Given the description of an element on the screen output the (x, y) to click on. 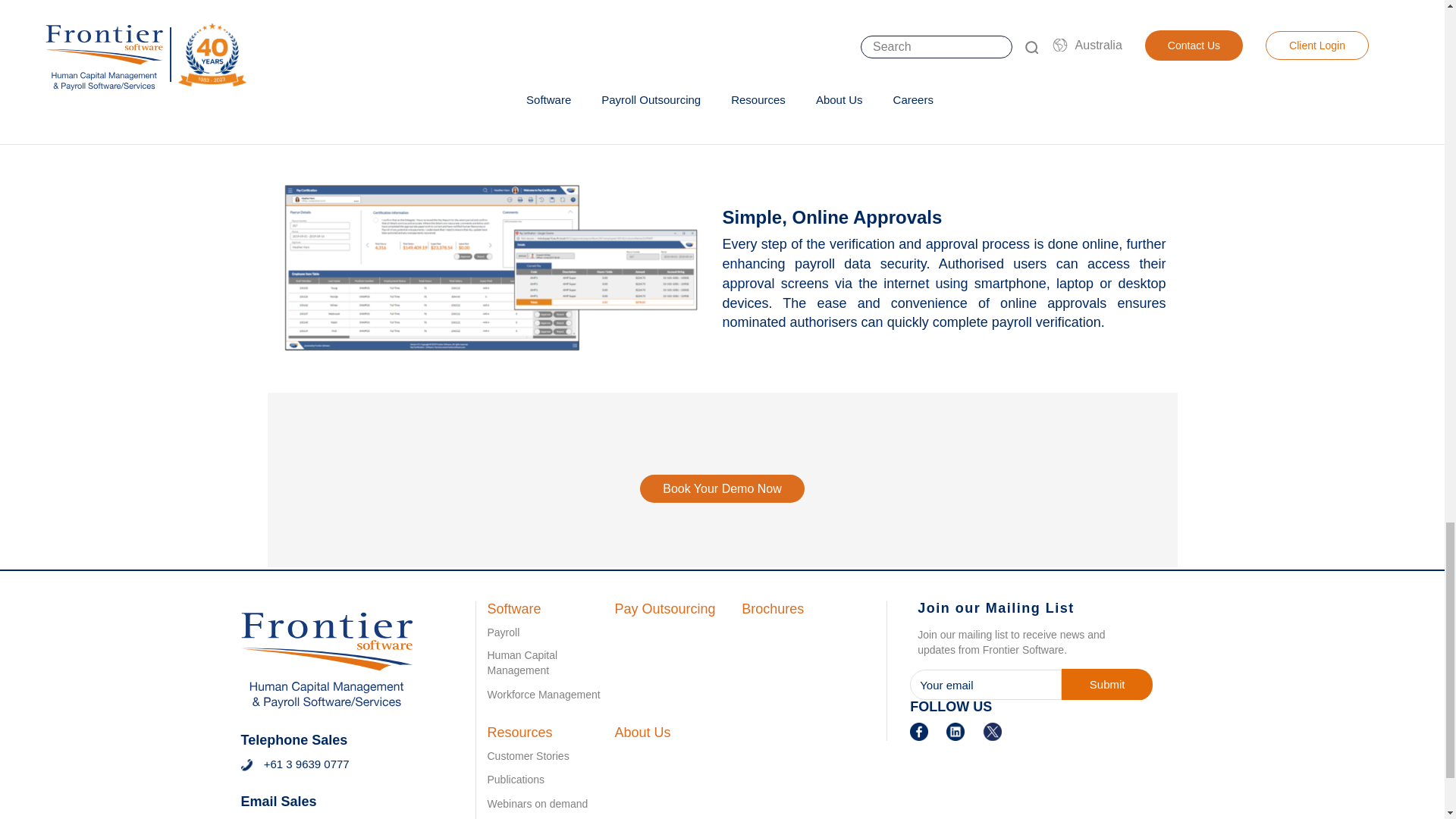
Follow us on Twitter (991, 730)
Follow us on Facebook (919, 730)
Follow us on LinkedIn (954, 730)
